Given the description of an element on the screen output the (x, y) to click on. 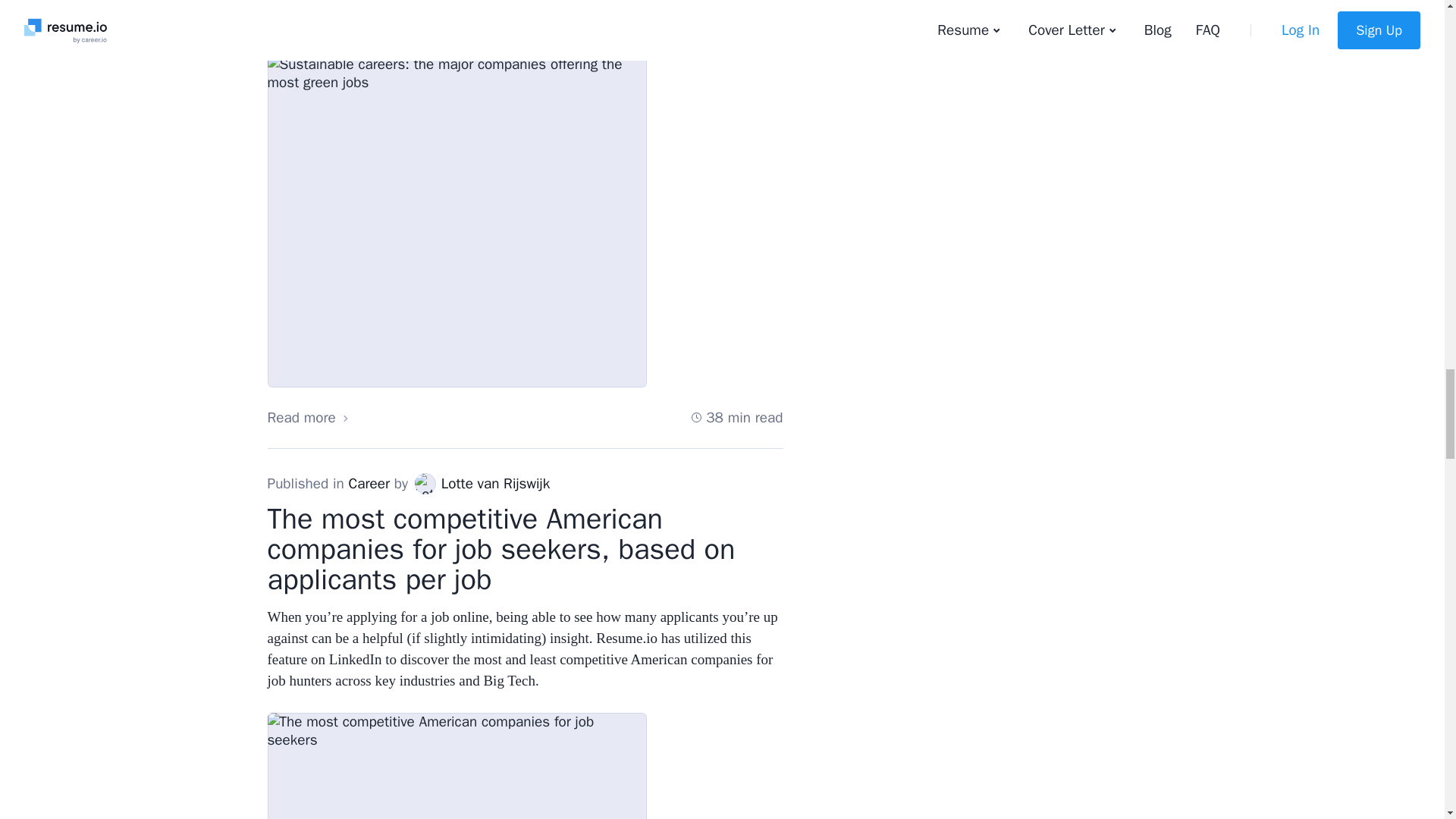
Lotte van Rijswijk (424, 483)
The most competitive American companies for job seekers (456, 765)
